Given the description of an element on the screen output the (x, y) to click on. 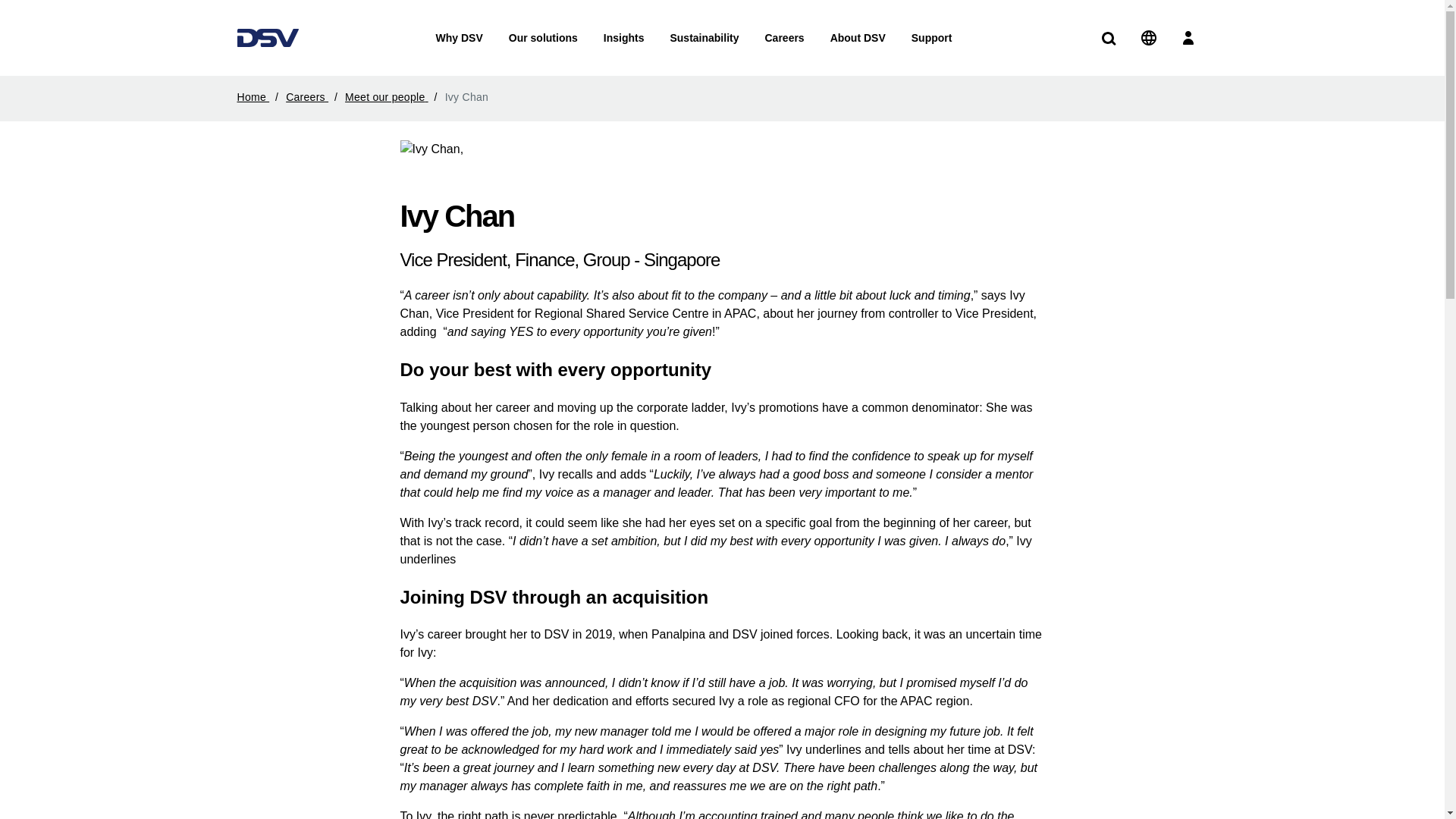
Sustainability (703, 38)
Why DSV (459, 38)
About DSV (857, 38)
Careers (314, 97)
Our solutions (543, 38)
Home (259, 97)
Meet our people (394, 97)
